Given the description of an element on the screen output the (x, y) to click on. 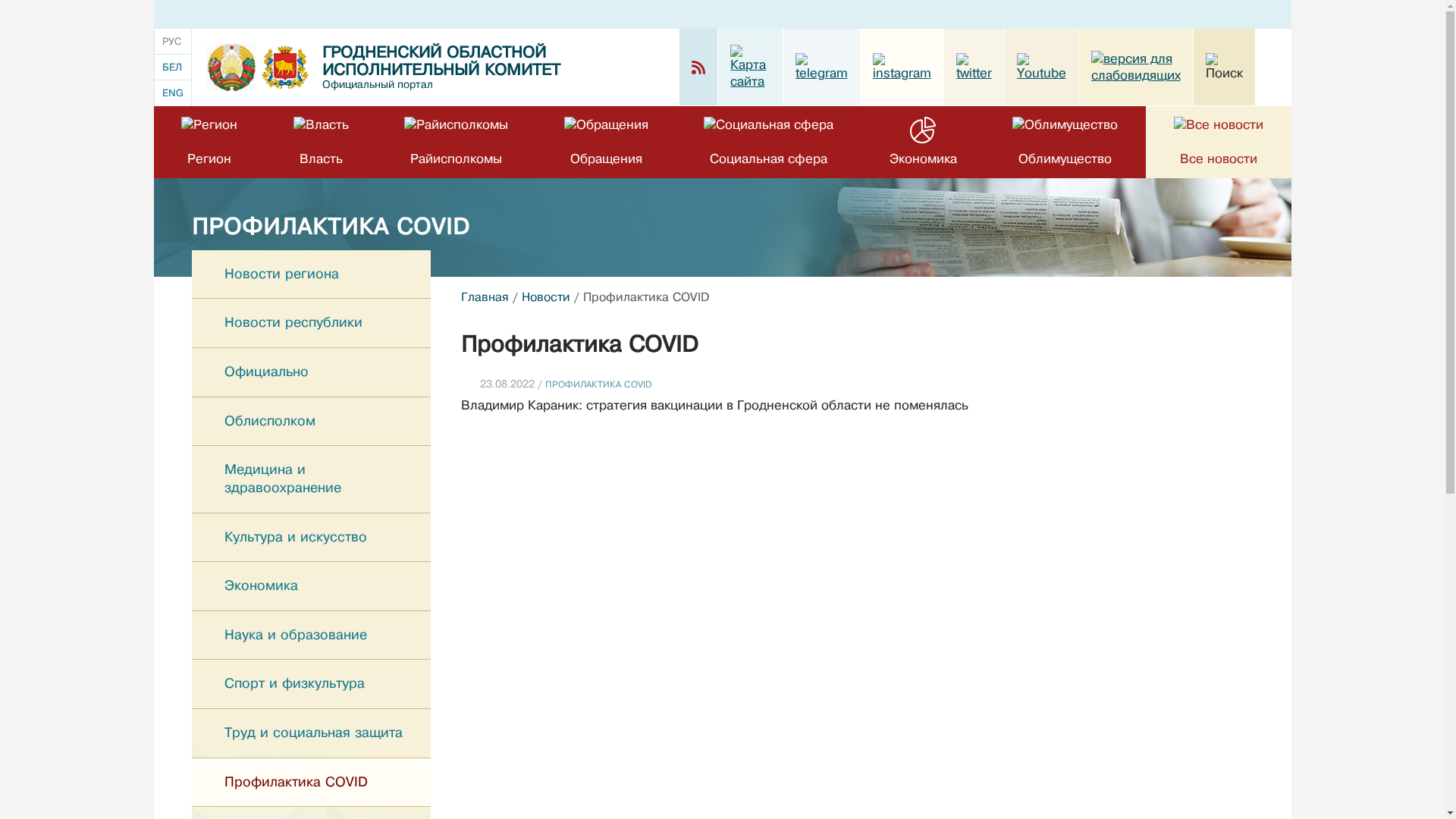
Youtube Element type: hover (1040, 67)
telegram Element type: hover (820, 67)
Youtube Element type: hover (1041, 66)
instagram Element type: hover (901, 67)
rss Element type: hover (698, 67)
telegram Element type: hover (820, 66)
twitter Element type: hover (973, 67)
instagram Element type: hover (901, 66)
twitter Element type: hover (973, 66)
ENG Element type: text (172, 92)
rss Element type: hover (698, 66)
